Given the description of an element on the screen output the (x, y) to click on. 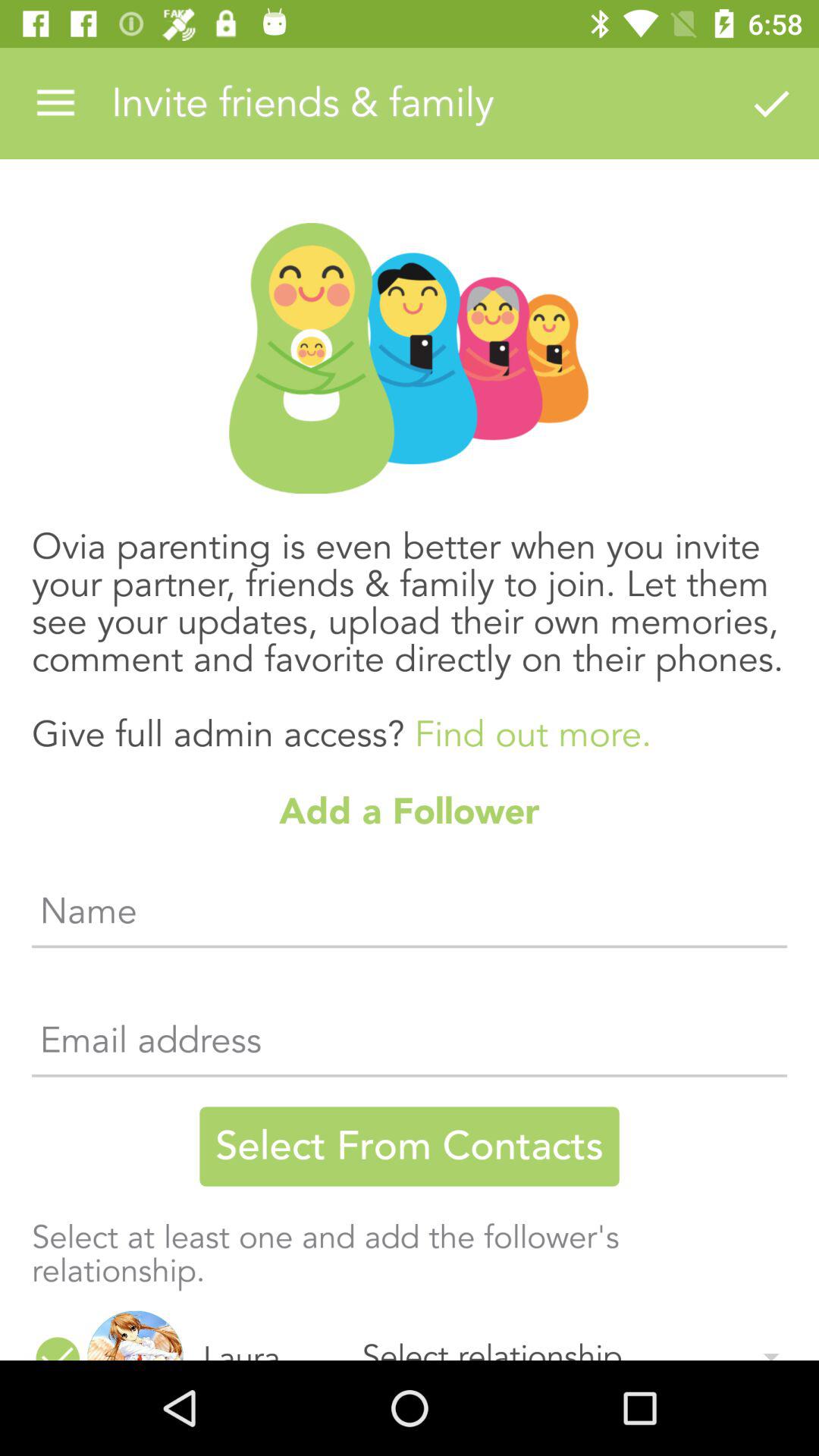
turn off icon above the add a follower item (409, 625)
